Given the description of an element on the screen output the (x, y) to click on. 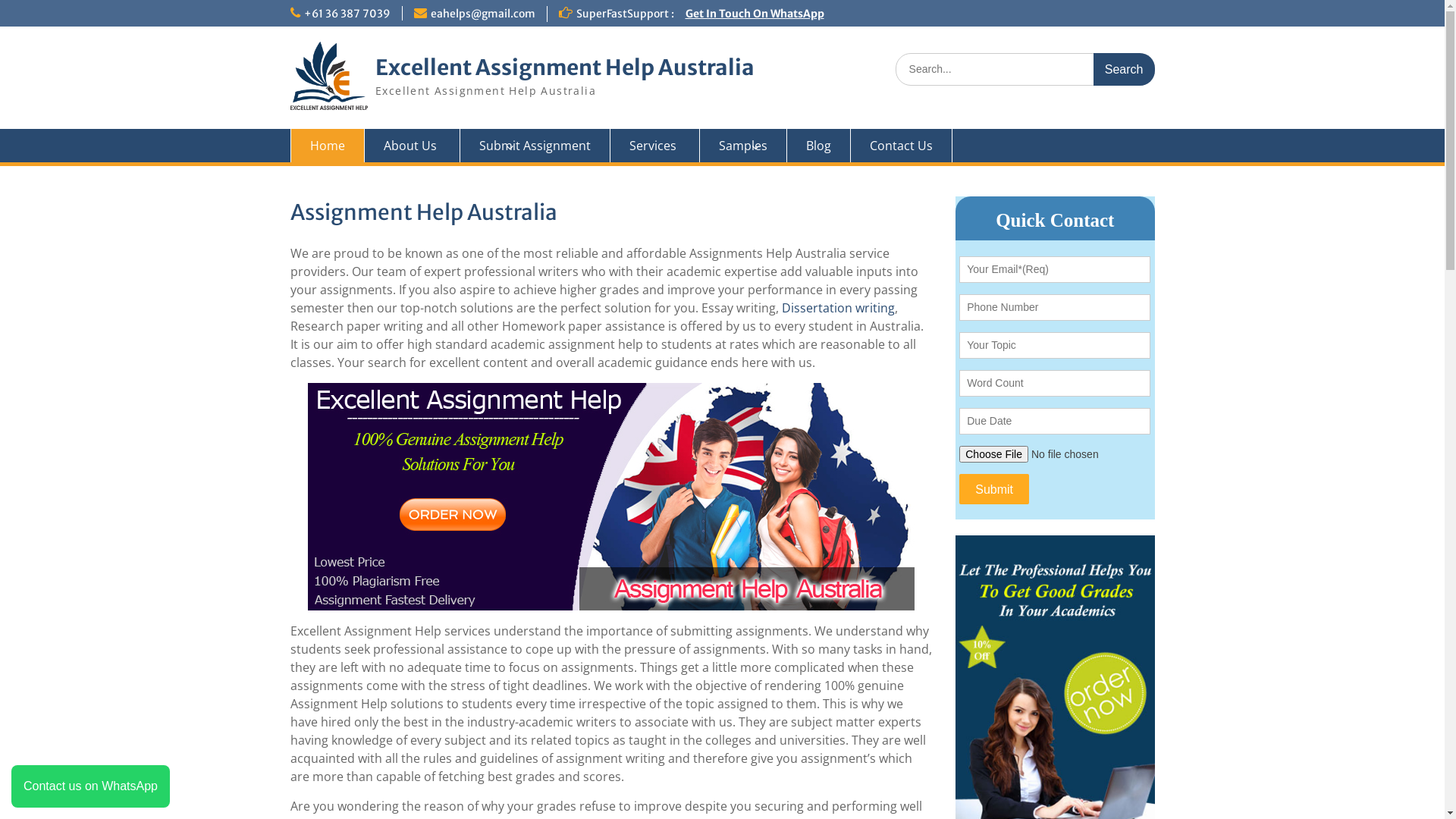
Samples Element type: text (742, 145)
Blog Element type: text (818, 145)
Get In Touch On WhatsApp Element type: text (754, 13)
Services Element type: text (654, 145)
+61 36 387 7039 Element type: text (346, 13)
Search for: Element type: hover (1024, 69)
Home Element type: text (326, 145)
eahelps@gmail.com Element type: text (482, 13)
About Us Element type: text (411, 145)
Submit Element type: text (994, 488)
Excellent Assignment Help Australia Element type: text (564, 67)
Contact us on WhatsApp Element type: text (90, 786)
Submit Assignment Element type: text (534, 145)
Dissertation writing Element type: text (837, 307)
Search Element type: text (1123, 69)
Contact Us Element type: text (901, 145)
